Given the description of an element on the screen output the (x, y) to click on. 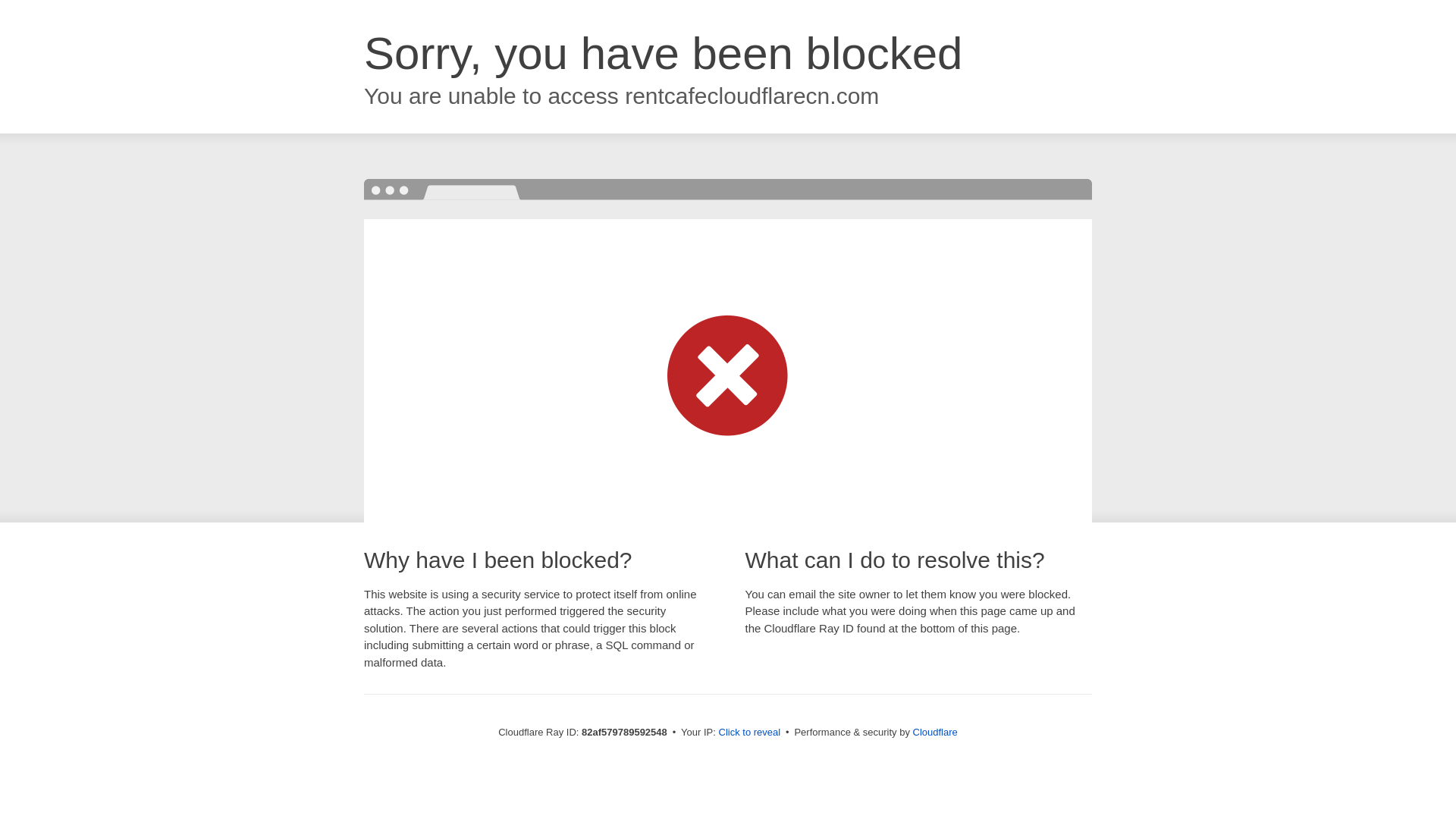
Cloudflare Element type: text (935, 731)
Click to reveal Element type: text (749, 732)
